Given the description of an element on the screen output the (x, y) to click on. 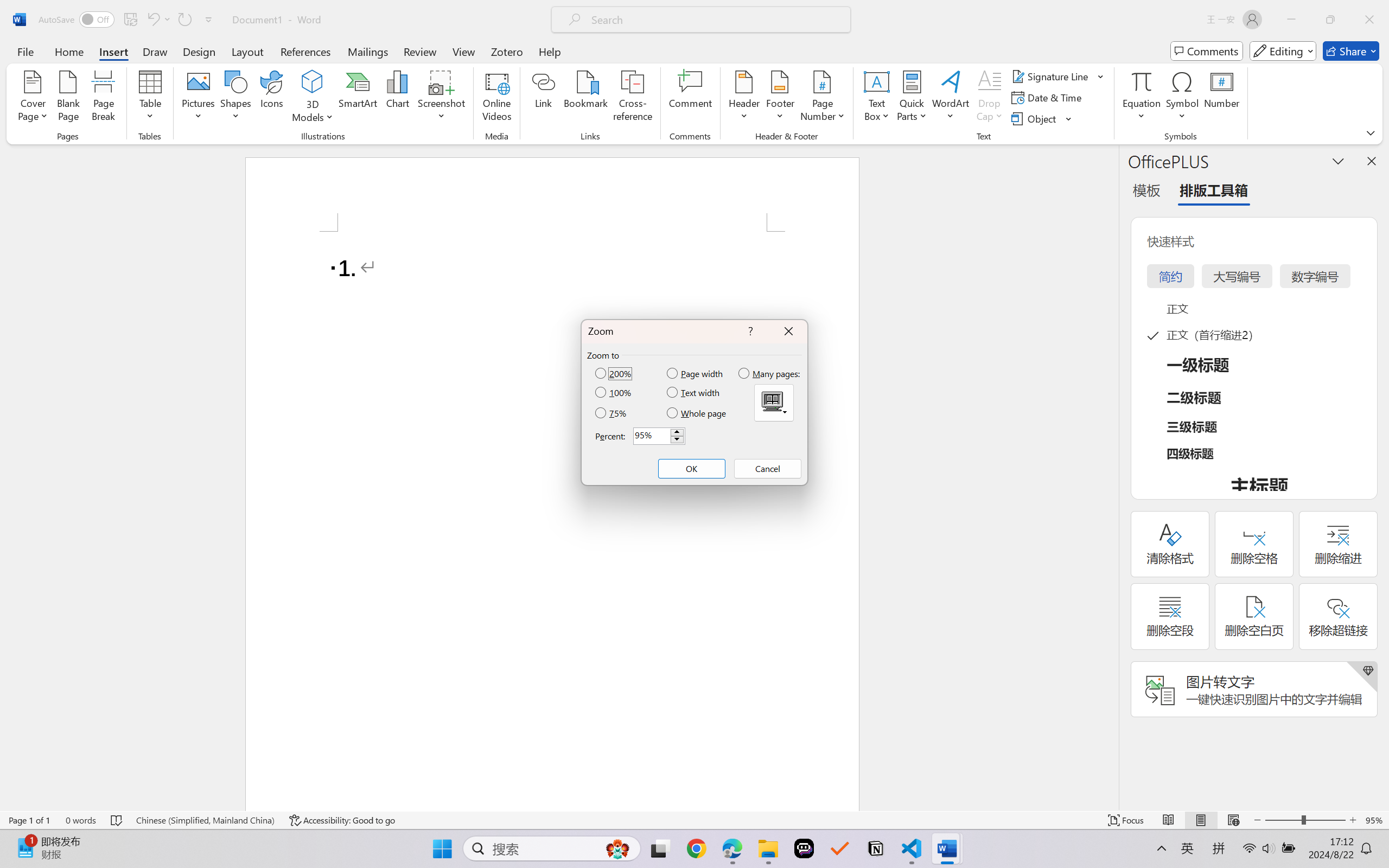
Text Box (876, 97)
Object... (1035, 118)
RichEdit Control (651, 435)
MSO Generic Control Container (774, 402)
Screenshot (441, 97)
3D Models (312, 81)
